Given the description of an element on the screen output the (x, y) to click on. 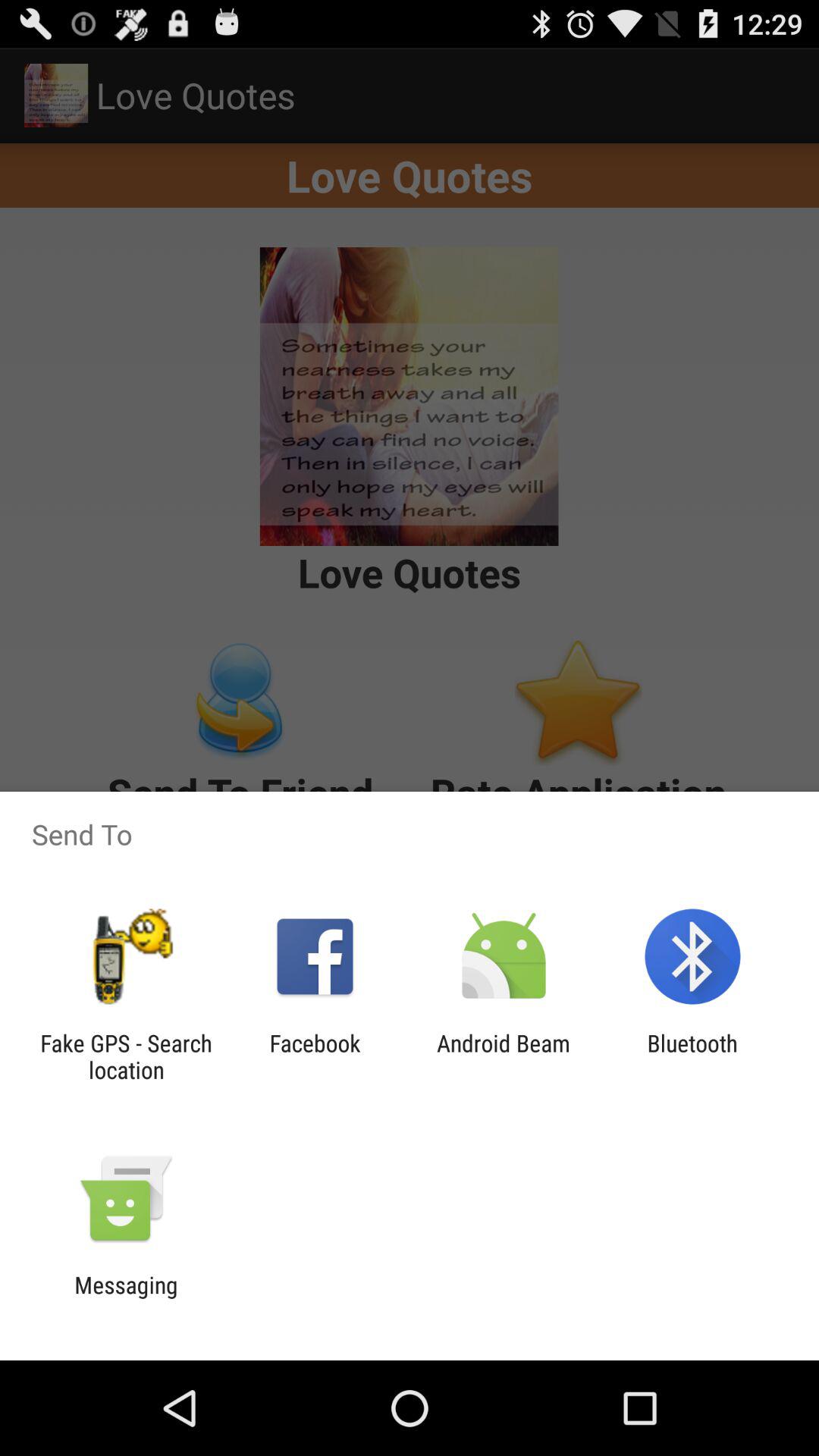
launch the facebook (314, 1056)
